Given the description of an element on the screen output the (x, y) to click on. 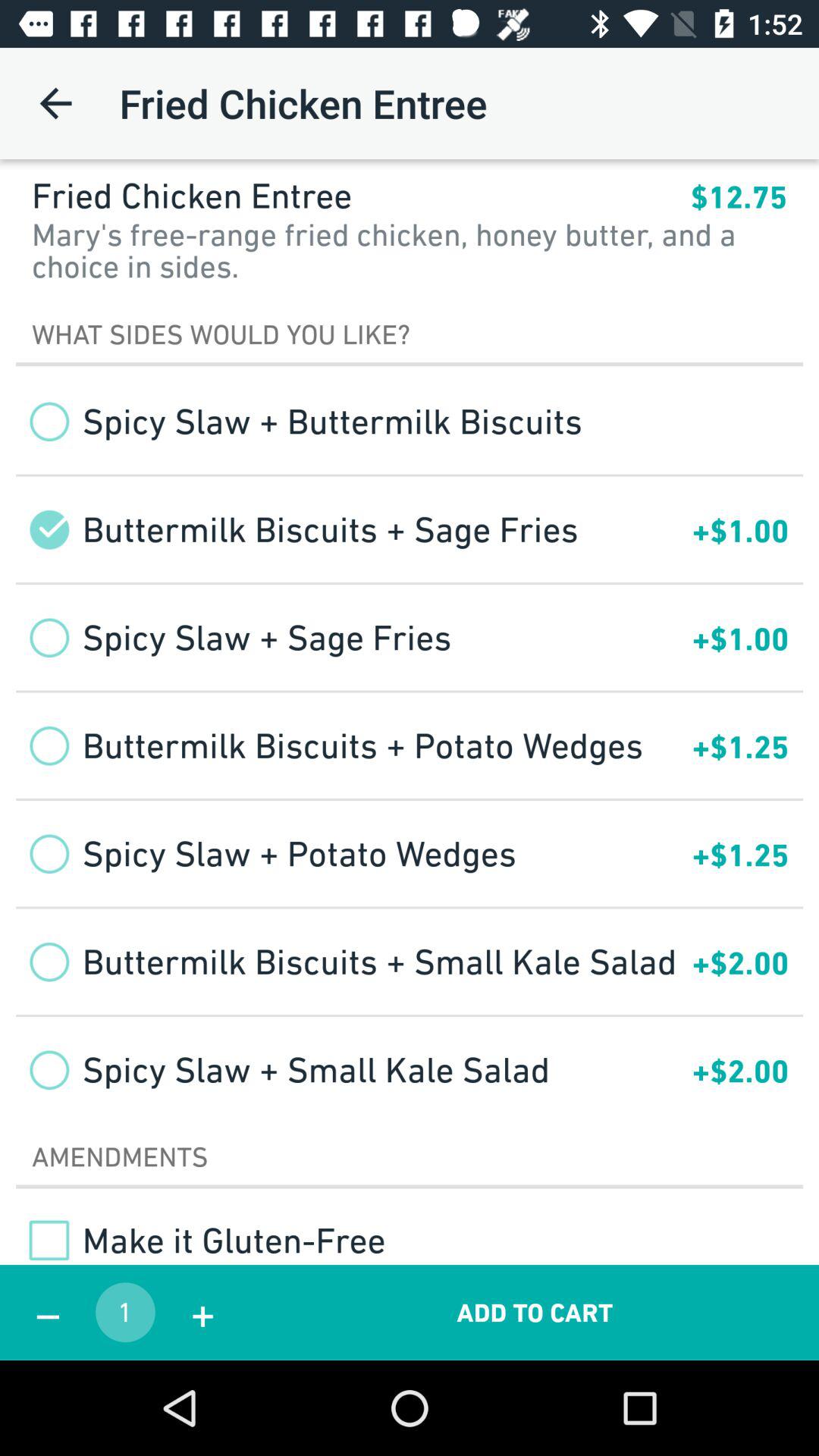
tap icon above fried chicken entree item (55, 103)
